Given the description of an element on the screen output the (x, y) to click on. 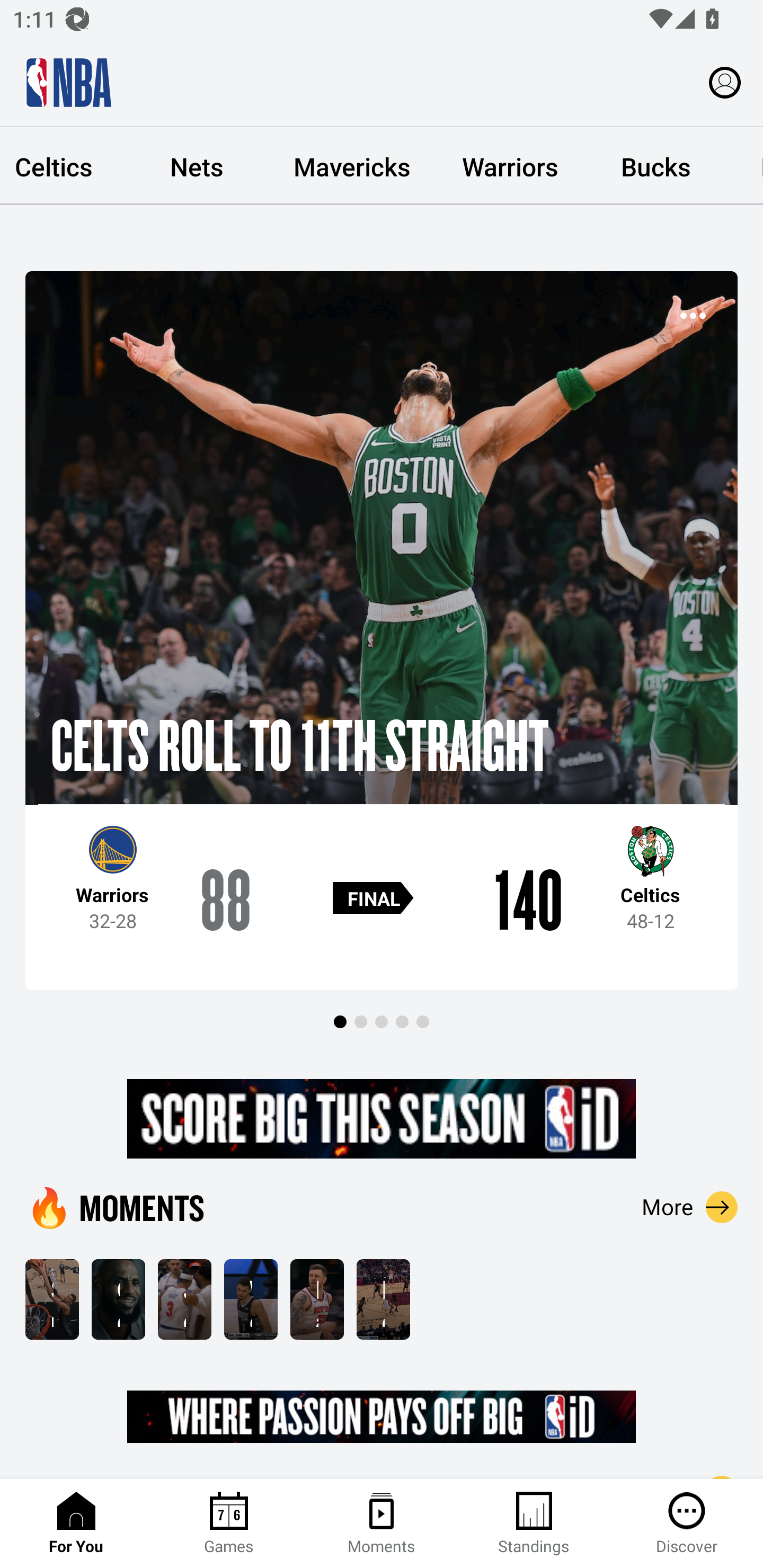
Profile (724, 81)
Celtics (62, 166)
Nets (196, 166)
Mavericks (351, 166)
Warriors (510, 166)
Bucks (655, 166)
More (689, 1207)
Sunday's Top Plays In 30 Seconds ⏱ (51, 1299)
Hartenstein Drops The Hammer 🔨 (317, 1299)
Games (228, 1523)
Moments (381, 1523)
Standings (533, 1523)
Discover (686, 1523)
